Given the description of an element on the screen output the (x, y) to click on. 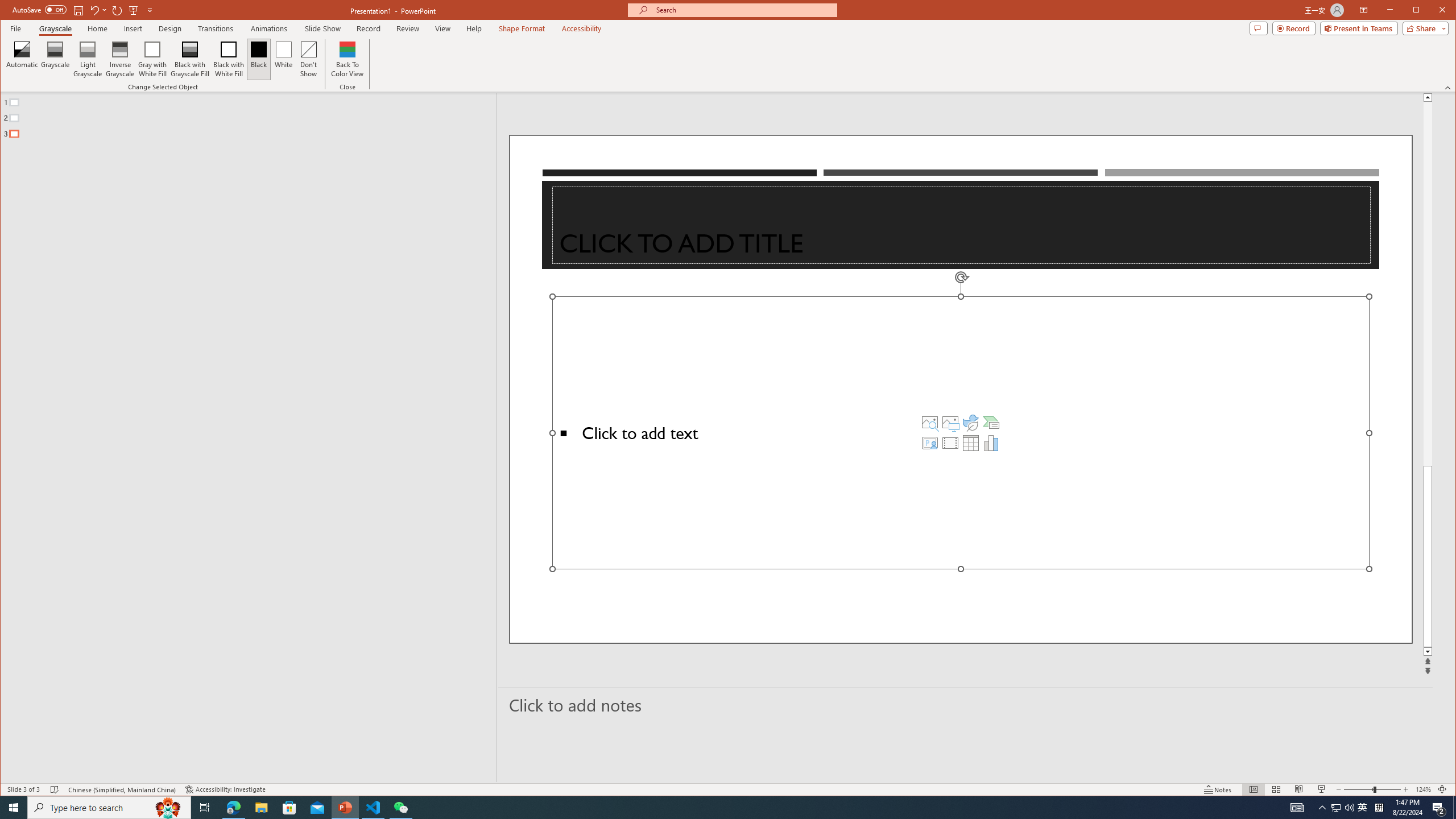
Gray with White Fill (152, 59)
Transitions (215, 28)
Save (77, 9)
Minimize (1419, 11)
Zoom to Fit  (1441, 789)
Black with Grayscale Fill (189, 59)
Action Center, 2 new notifications (1439, 807)
View (443, 28)
Slide Notes (965, 704)
Insert Video (949, 443)
Zoom (1371, 789)
Automatic (22, 59)
Animations (269, 28)
Stock Images (929, 422)
